Given the description of an element on the screen output the (x, y) to click on. 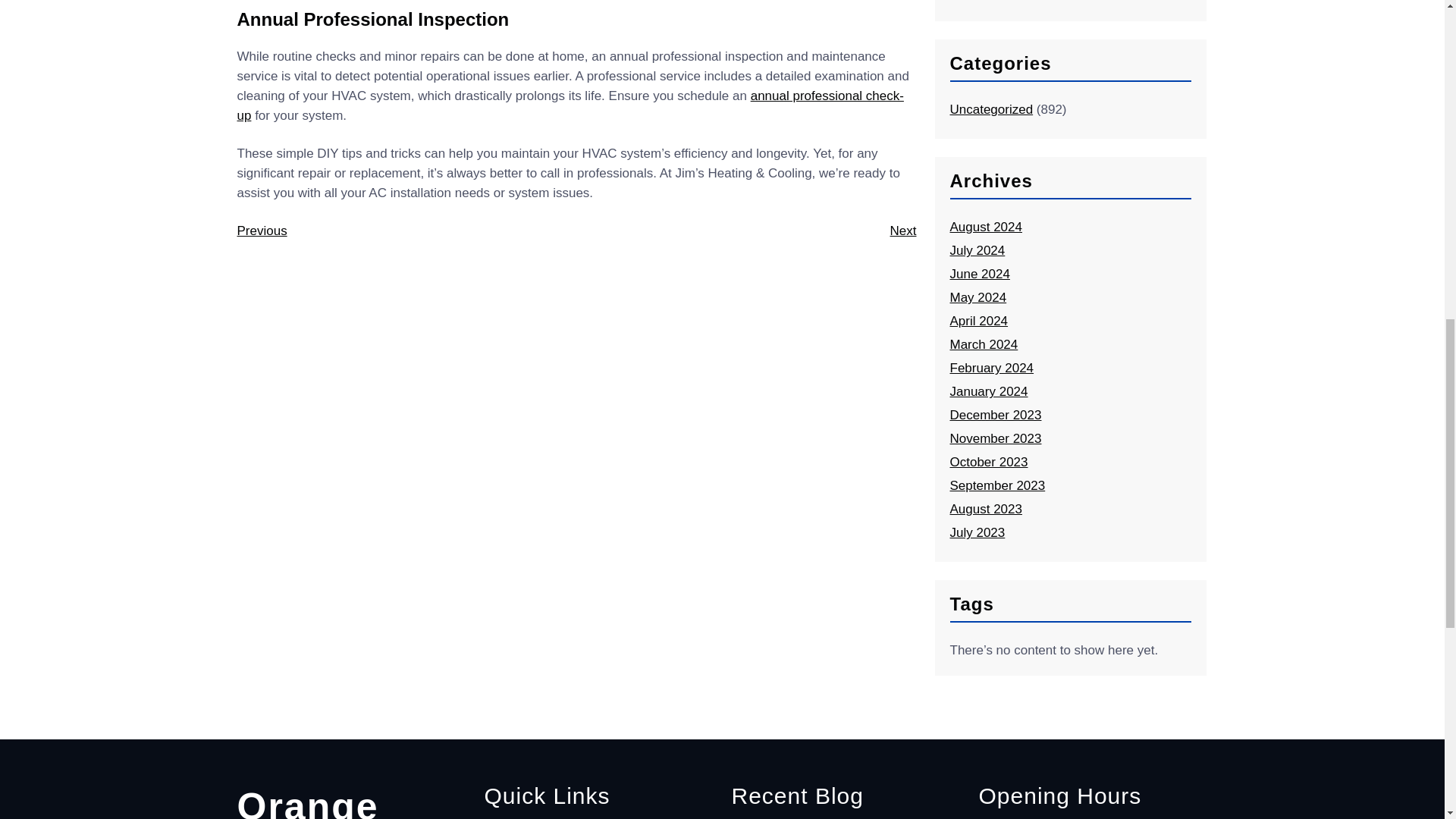
April 2024 (978, 320)
November 2023 (995, 438)
August 2024 (985, 227)
July 2024 (976, 250)
Uncategorized (990, 109)
Previous (260, 230)
September 2023 (997, 485)
December 2023 (995, 414)
May 2024 (977, 297)
January 2024 (988, 391)
